Given the description of an element on the screen output the (x, y) to click on. 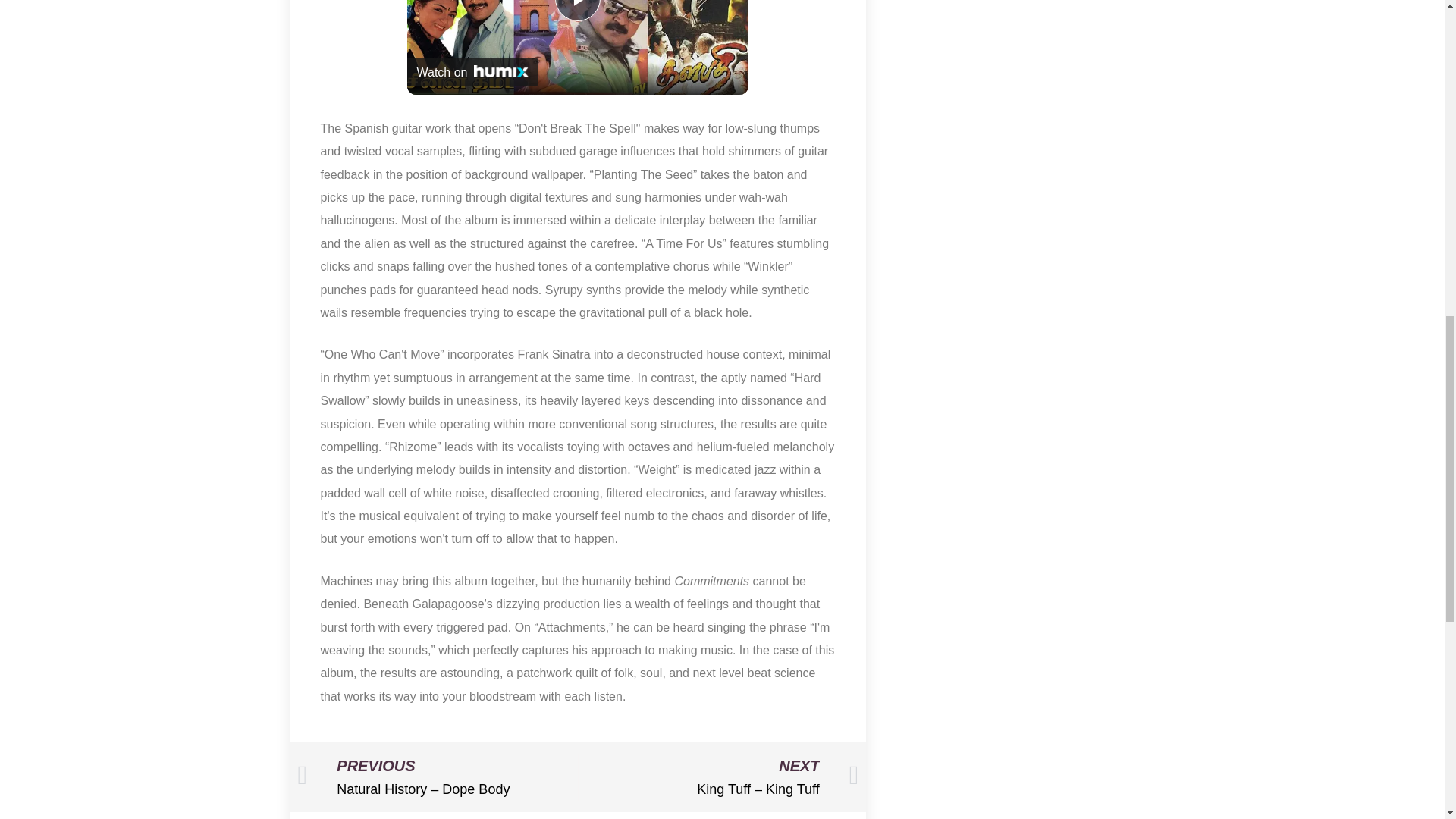
Play Video (576, 10)
Play Video (576, 10)
